Given the description of an element on the screen output the (x, y) to click on. 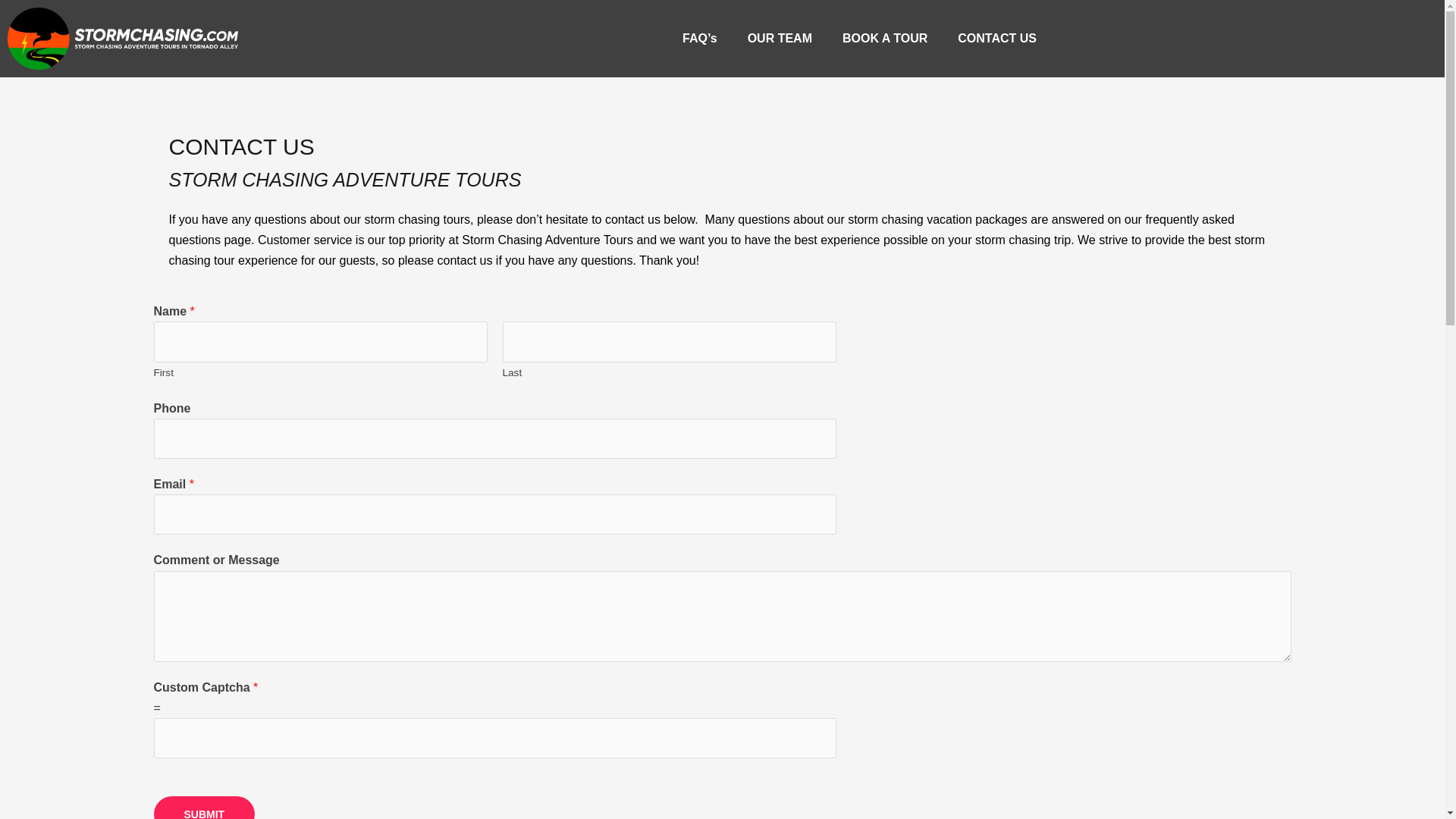
CONTACT US (996, 38)
SUBMIT (203, 807)
BOOK A TOUR (884, 38)
OUR TEAM (779, 38)
